Given the description of an element on the screen output the (x, y) to click on. 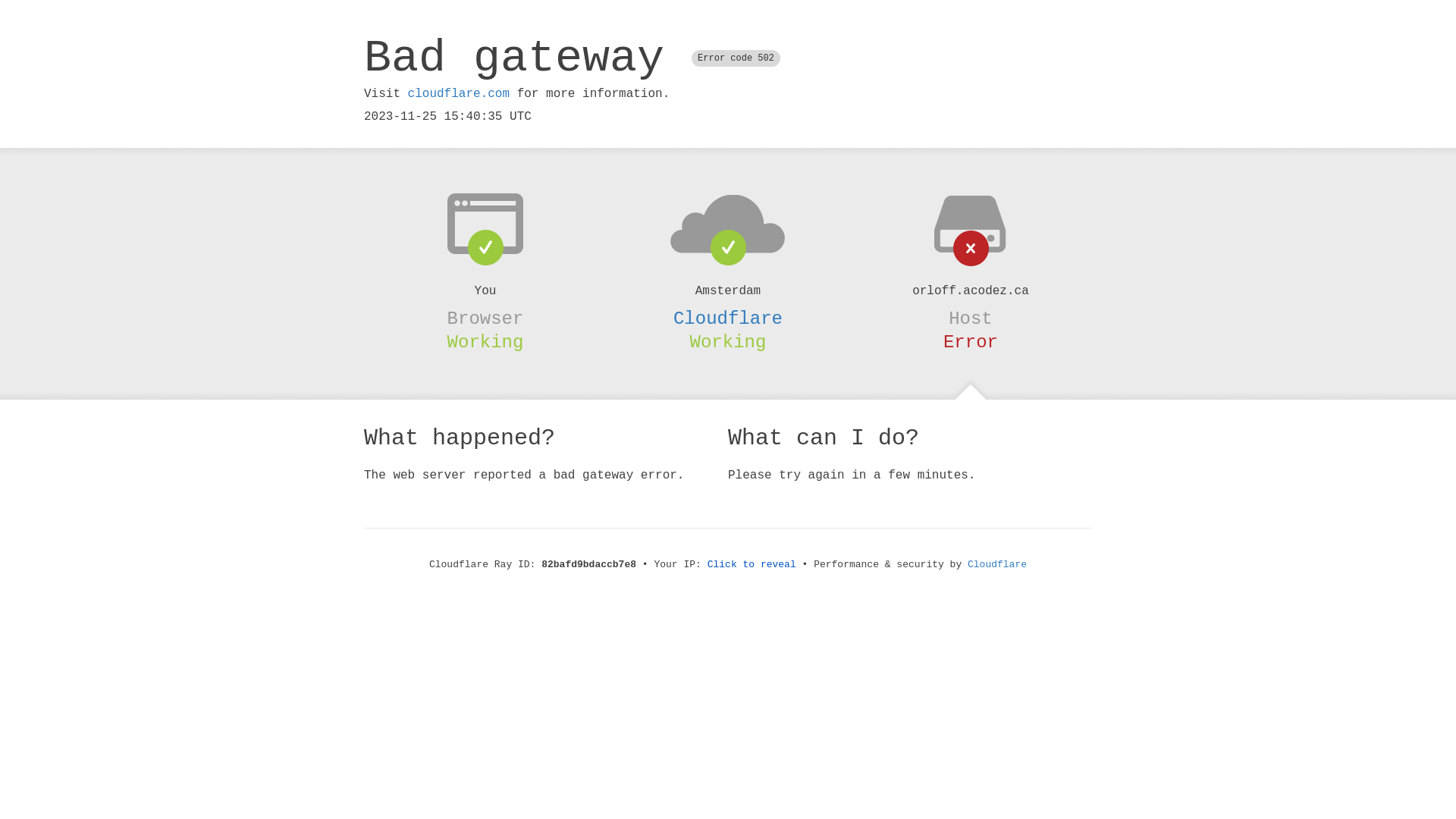
Cloudflare Element type: text (996, 564)
Click to reveal Element type: text (751, 564)
Cloudflare Element type: text (727, 318)
cloudflare.com Element type: text (458, 93)
